Given the description of an element on the screen output the (x, y) to click on. 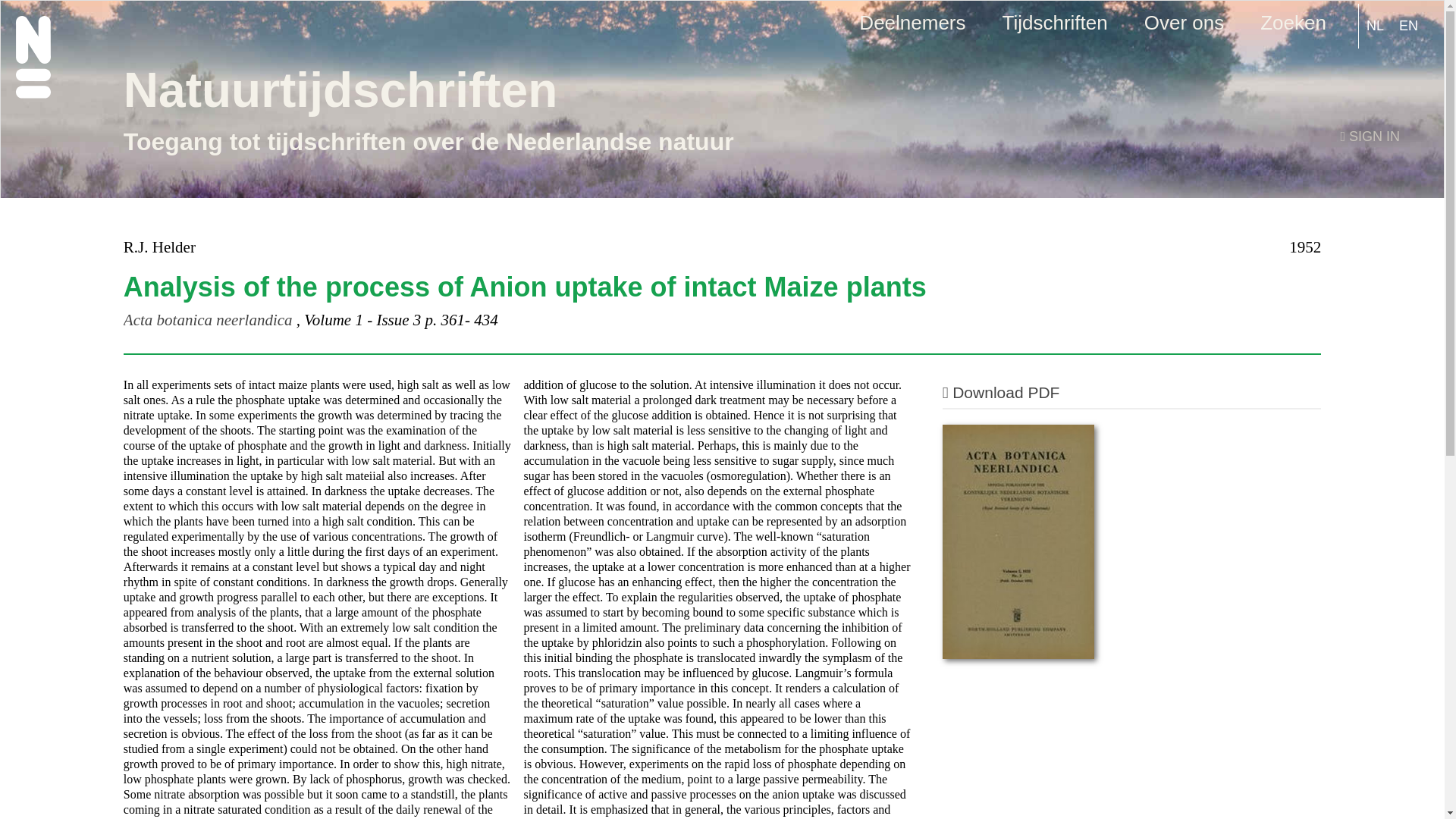
Download PDF (1000, 392)
SIGN IN (1369, 136)
Zoeken (1293, 16)
Deelnemers (912, 16)
Acta botanica neerlandica (207, 320)
Over ons (1184, 16)
Tijdschriften (1055, 16)
Natuurtijdschriften (340, 90)
